Given the description of an element on the screen output the (x, y) to click on. 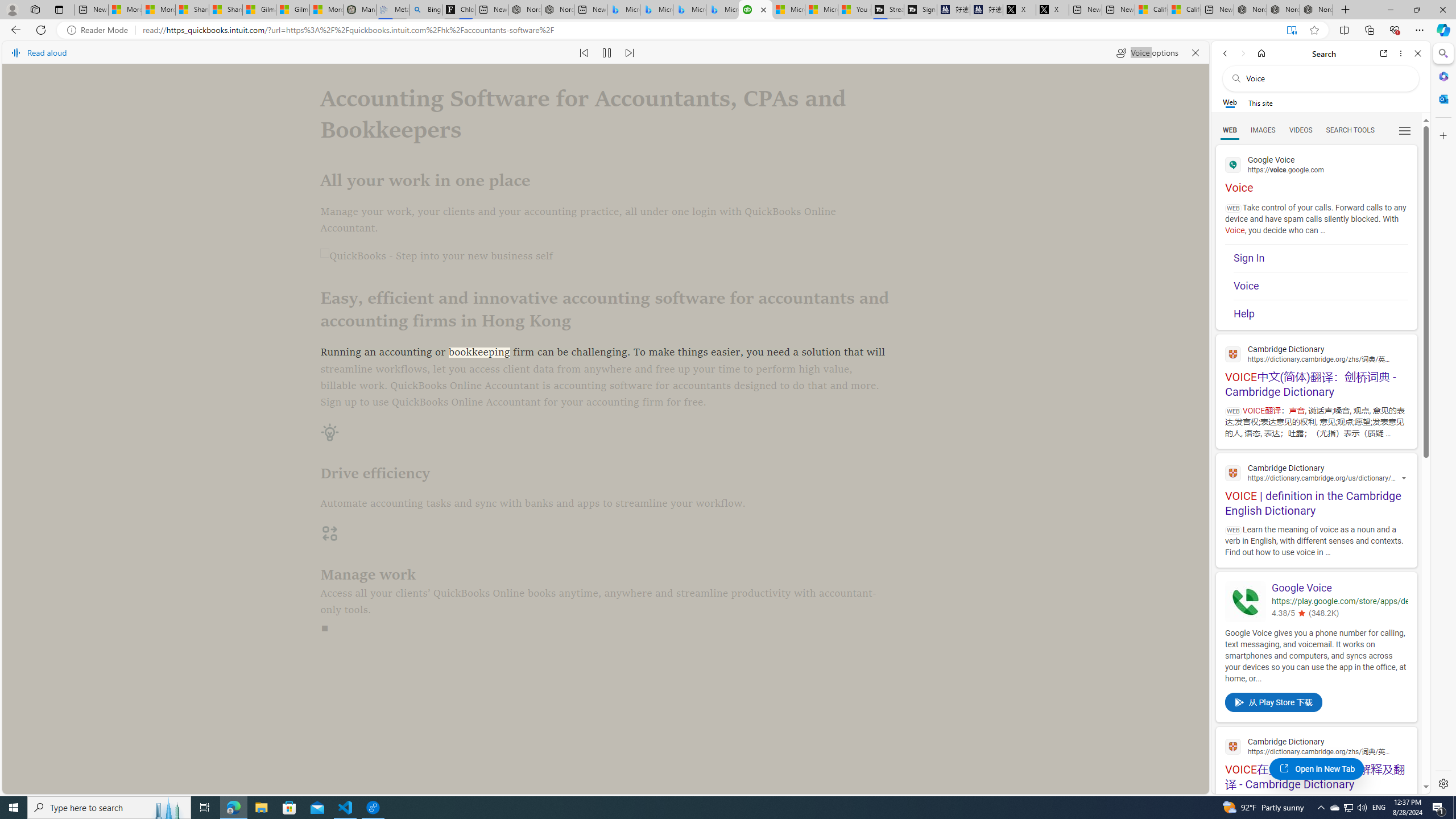
Accounting Software for Accountants, CPAs and Bookkeepers (755, 9)
X (1052, 9)
Settings (1442, 783)
Nordace - Siena Pro 15 Essential Set (1316, 9)
Web scope (1230, 102)
Google Voice (1245, 601)
